Given the description of an element on the screen output the (x, y) to click on. 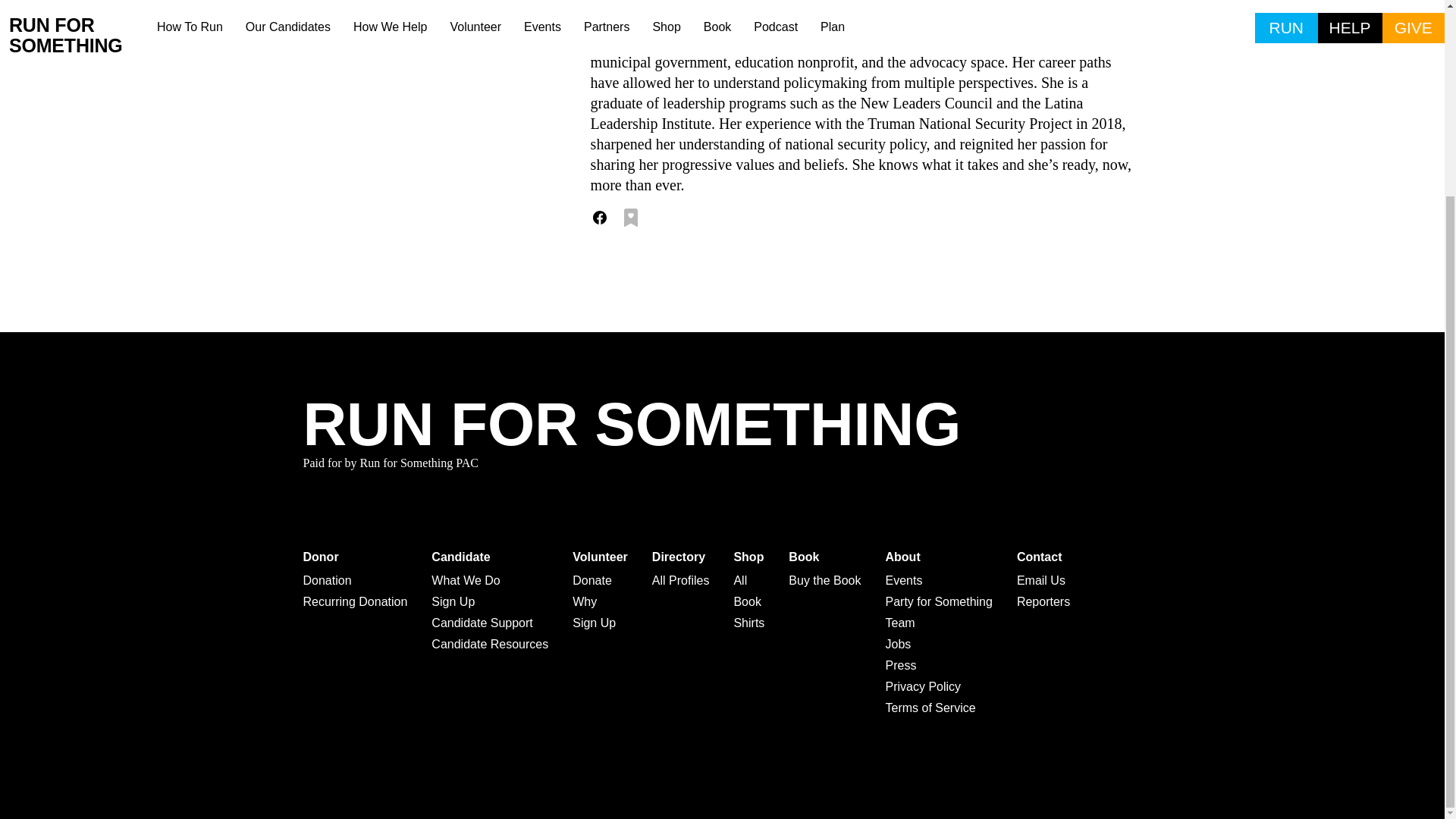
What We Do (489, 580)
Donor (354, 557)
Candidate Support (489, 622)
Directory (681, 557)
Buy the Book (824, 580)
Book (824, 557)
All (748, 580)
All Profiles (681, 580)
Book (748, 601)
Candidate Resources (489, 644)
